Given the description of an element on the screen output the (x, y) to click on. 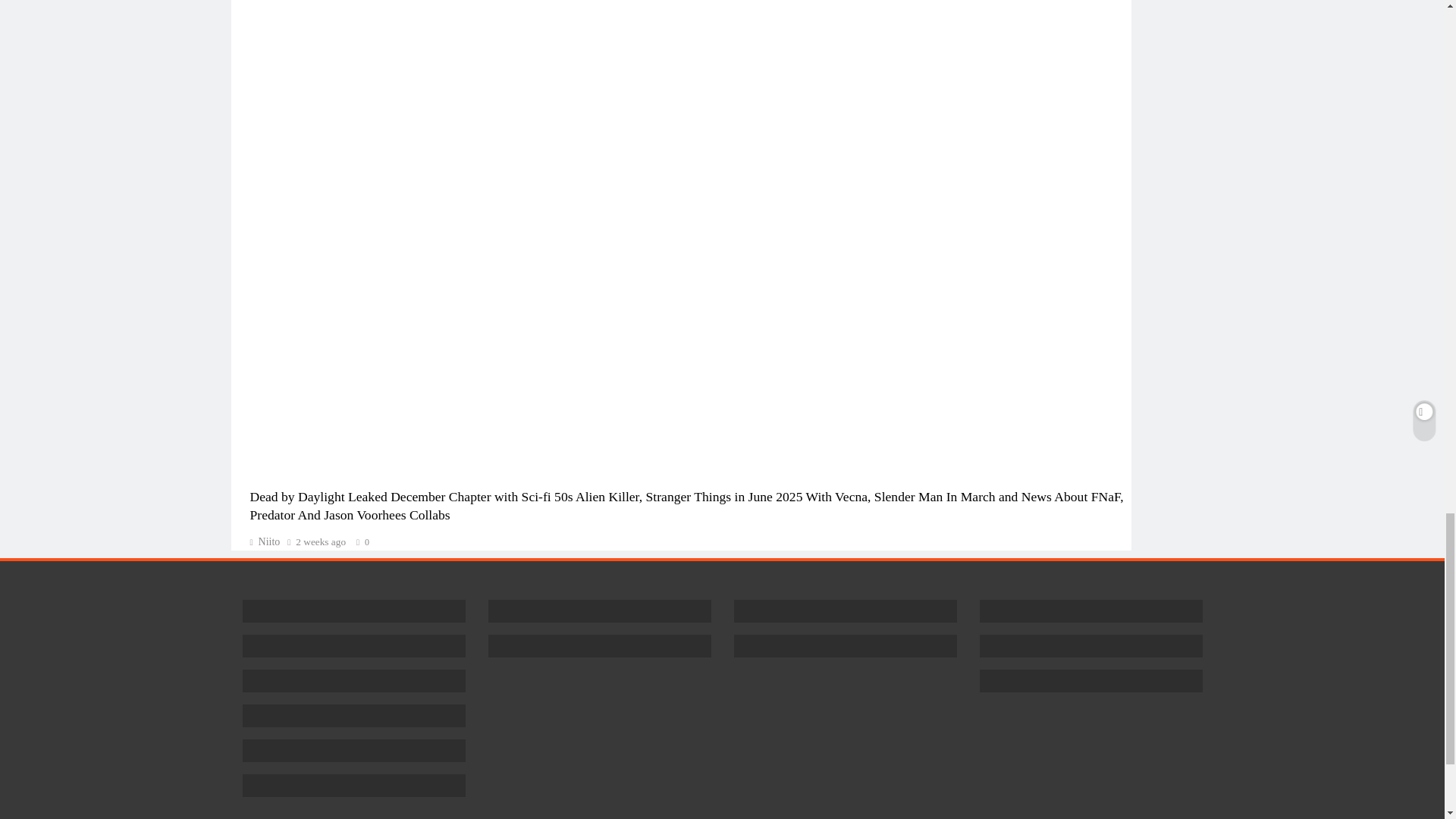
Niito (265, 541)
2 weeks ago (320, 542)
